Given the description of an element on the screen output the (x, y) to click on. 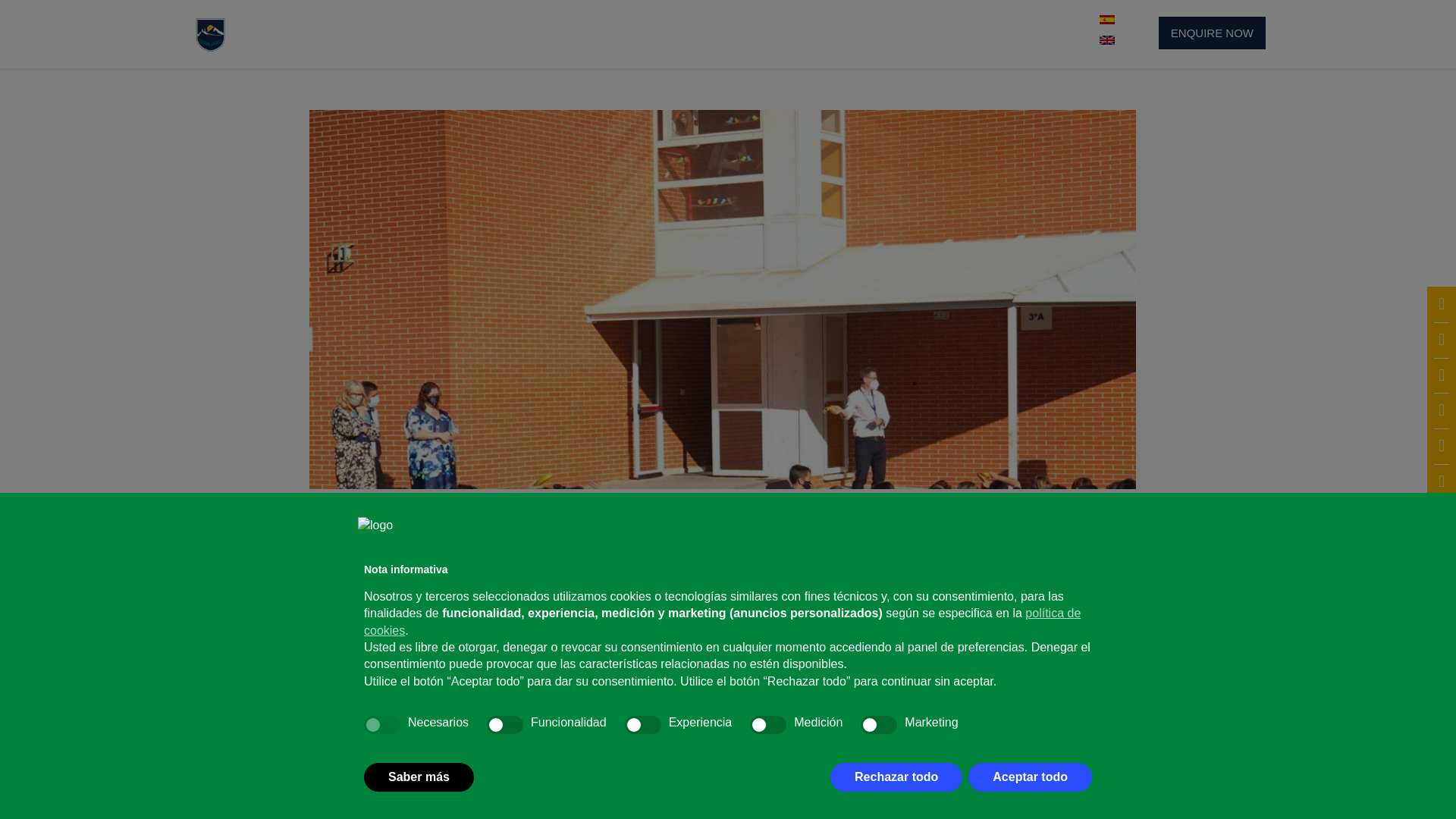
false (642, 724)
OUR SCHOOL (433, 31)
LEARNING (667, 31)
CANCION EN SOLIDARIDAD CON LA PALMA (752, 748)
true (382, 724)
SCHOOL LIFE (778, 31)
CONTACT (1033, 31)
ENQUIRE NOW (1211, 32)
false (767, 724)
false (504, 724)
